Given the description of an element on the screen output the (x, y) to click on. 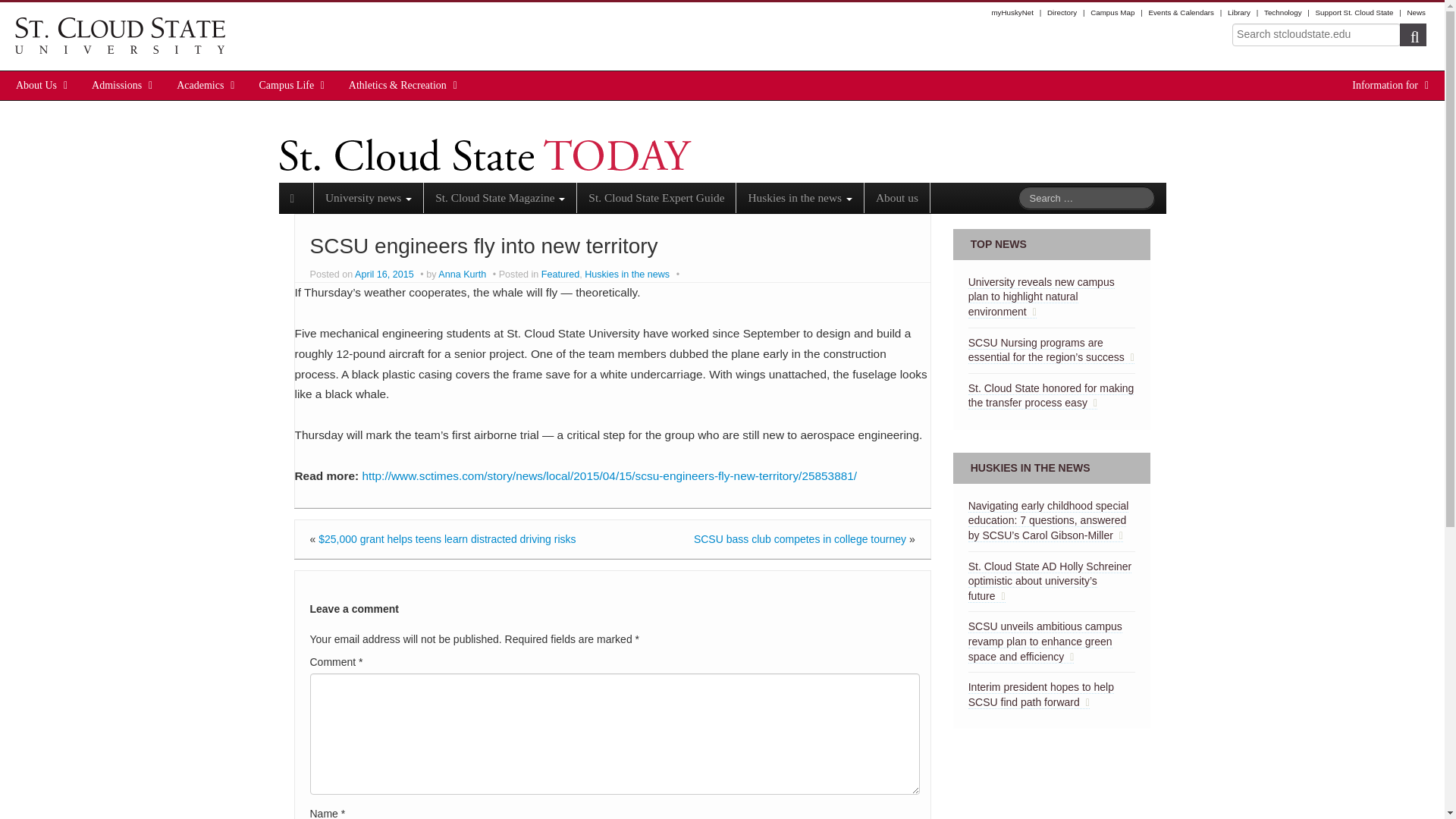
Search stcloudstate.edu (1315, 34)
8:40 am (385, 274)
Academics (199, 85)
Admissions (116, 85)
View all posts by Anna Kurth (462, 274)
Search stcloudstate.edu (1315, 34)
Campus Life (286, 85)
About Us (36, 85)
